Given the description of an element on the screen output the (x, y) to click on. 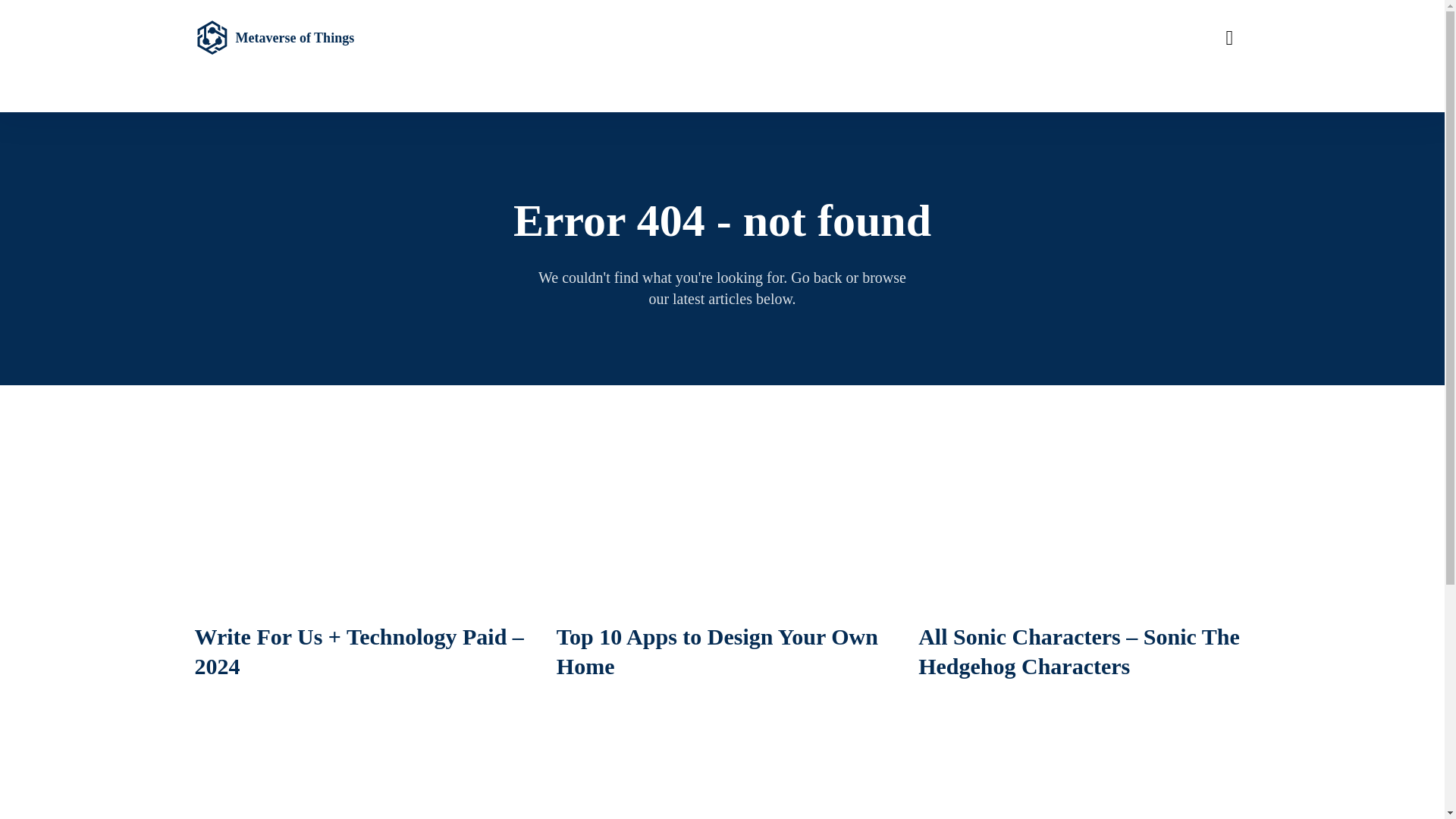
Metaverse of Things (302, 37)
Metaverse of Things (302, 37)
